Given the description of an element on the screen output the (x, y) to click on. 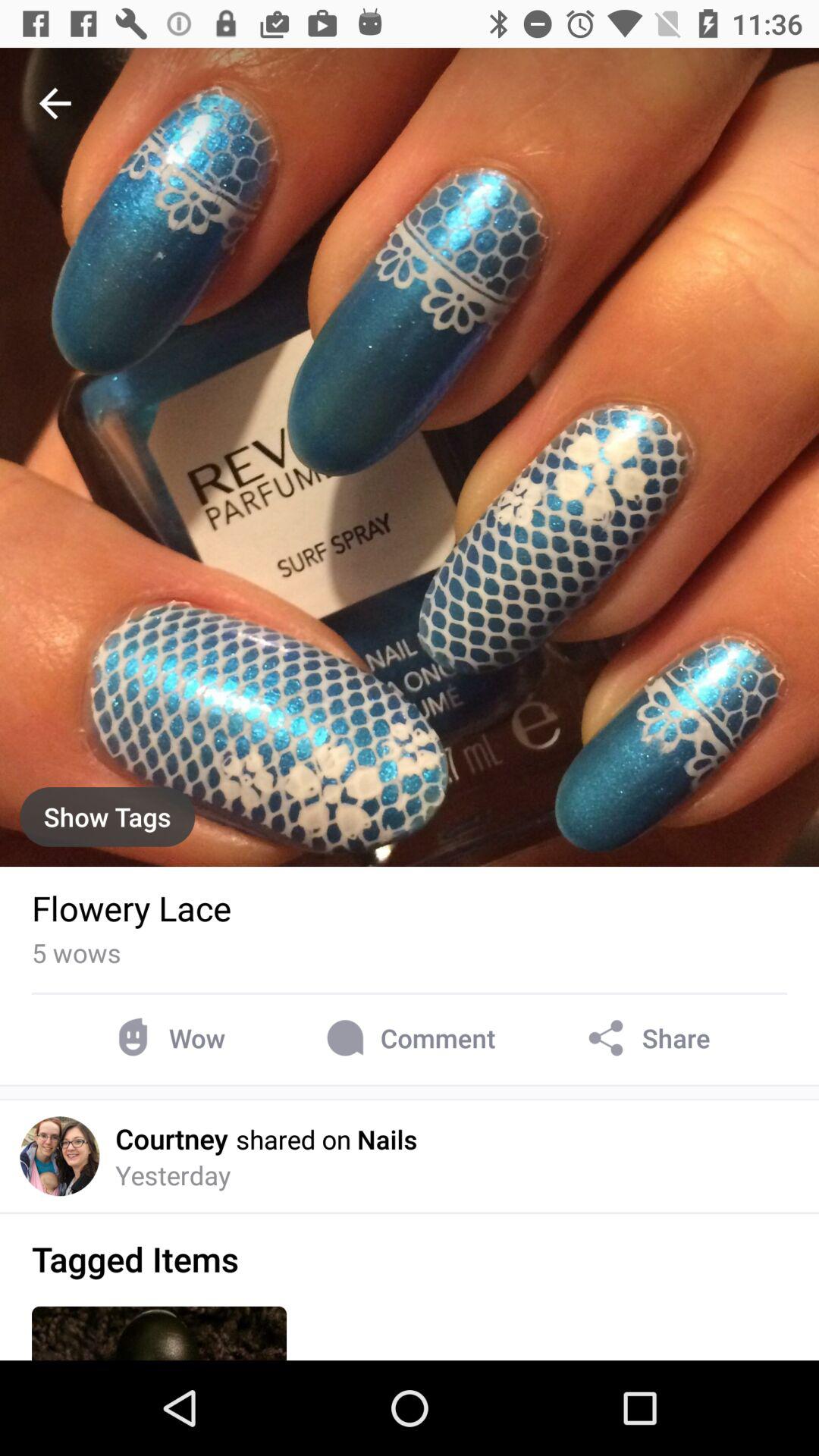
choose comment item (407, 1038)
